Given the description of an element on the screen output the (x, y) to click on. 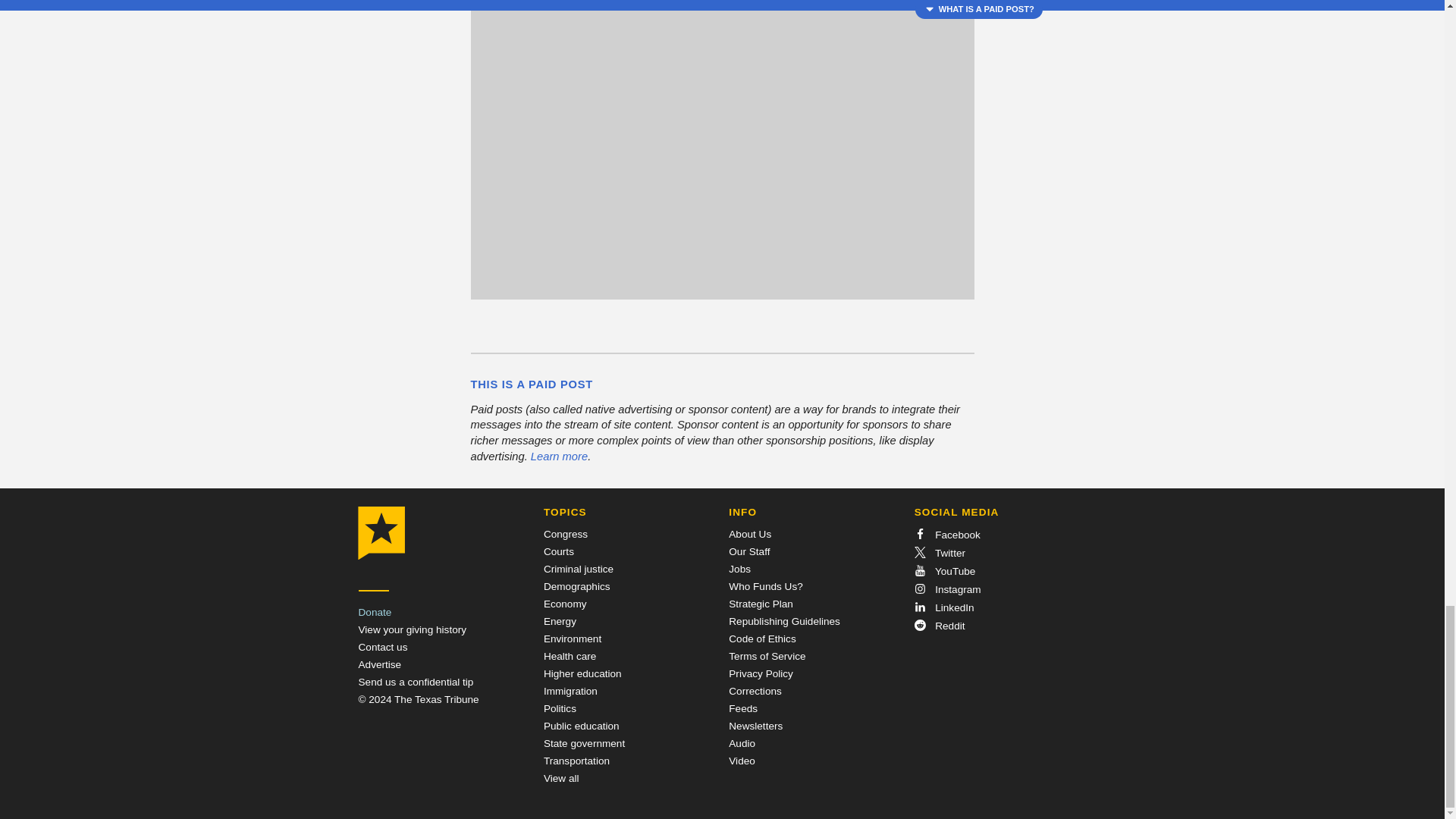
Send us a confidential tip (415, 681)
Terms of Service (767, 655)
Audio (742, 743)
Contact us (382, 646)
Facebook (946, 534)
Newsletters (756, 726)
Video (742, 760)
View your giving history (411, 629)
Learn more (559, 456)
Feeds (743, 708)
